Given the description of an element on the screen output the (x, y) to click on. 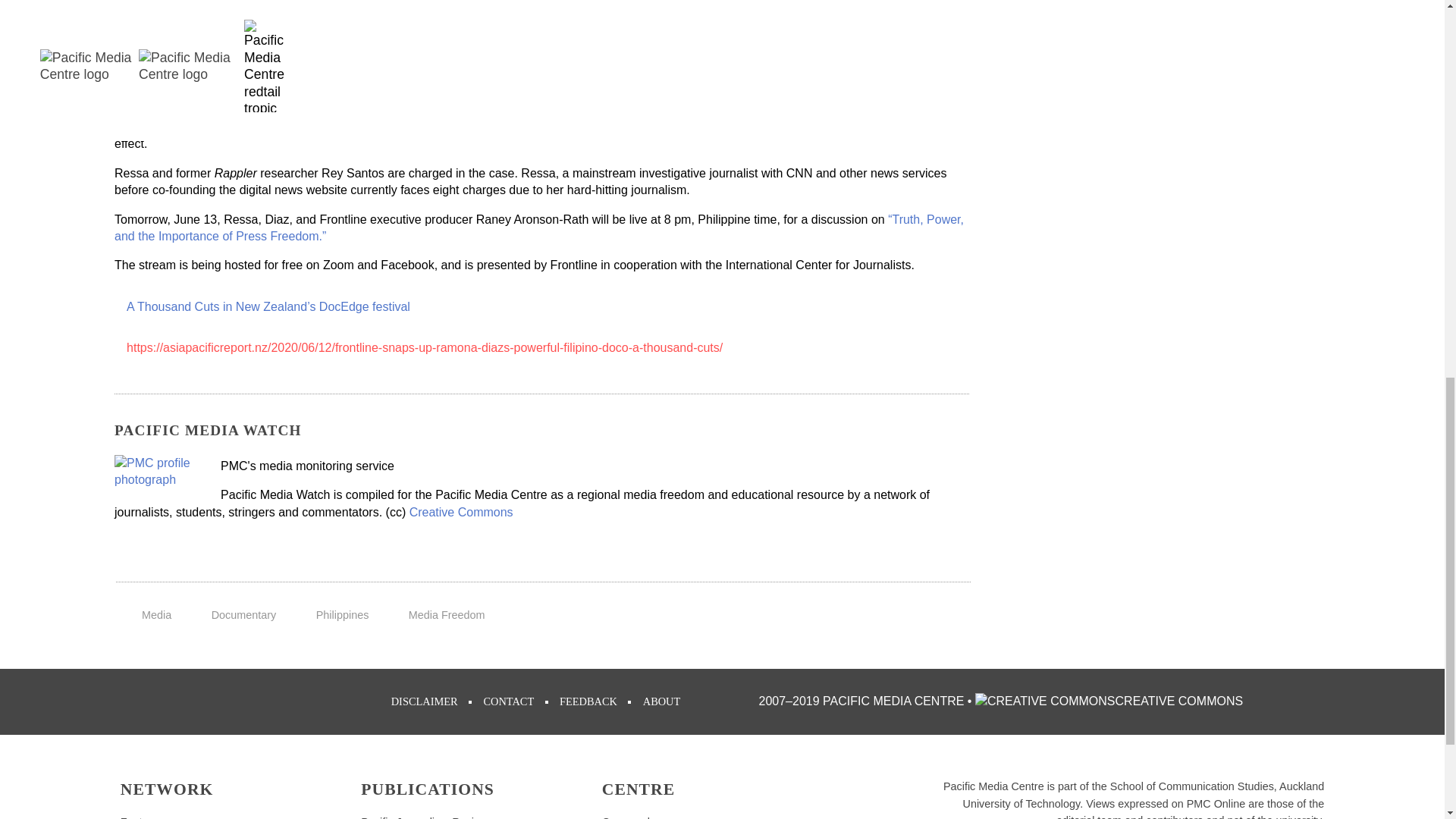
legal battles (281, 126)
Creative Commons (461, 512)
Philippines (342, 614)
Documentary (243, 614)
PACIFIC MEDIA WATCH (208, 430)
Media (156, 614)
Media Freedom (446, 614)
Pacific Media Watch (160, 471)
